Given the description of an element on the screen output the (x, y) to click on. 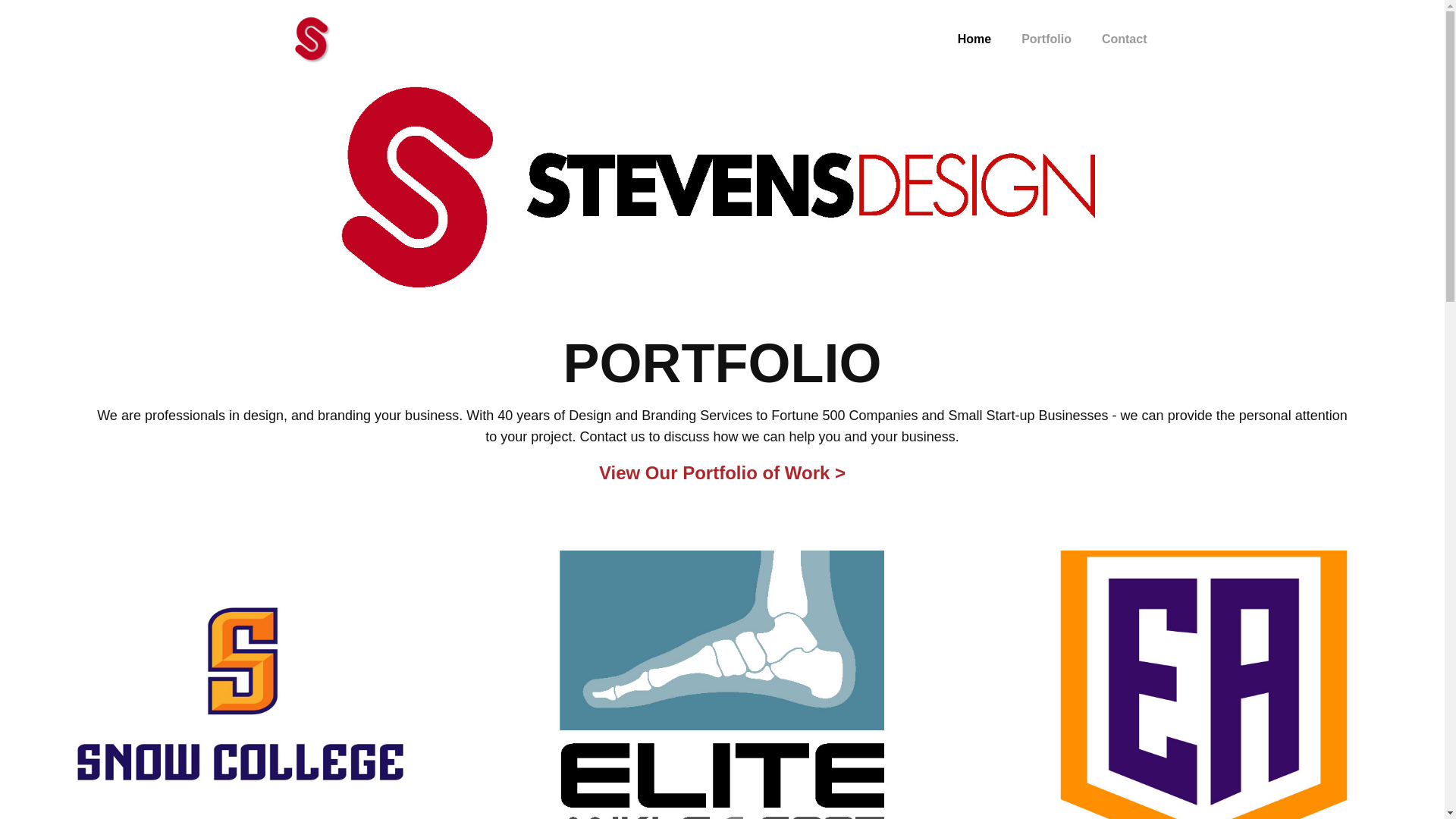
Home (974, 39)
Contact (1124, 39)
Portfolio (1045, 39)
